Given the description of an element on the screen output the (x, y) to click on. 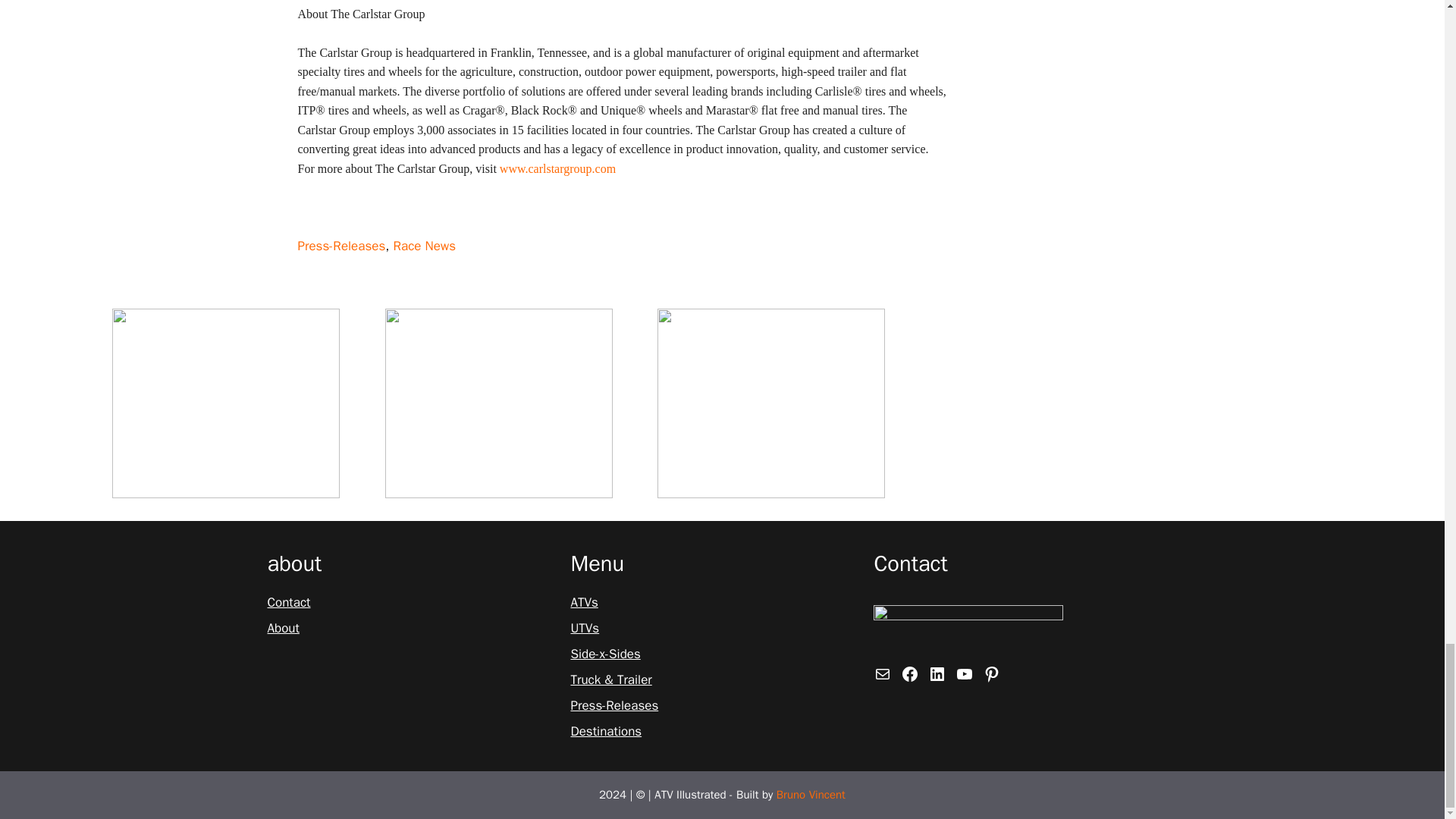
www.carlstargroup.com (557, 168)
Race News (424, 245)
ATVs (583, 602)
Press-Releases (341, 245)
Logo-250-w (967, 629)
Contact (288, 602)
About (282, 628)
